Given the description of an element on the screen output the (x, y) to click on. 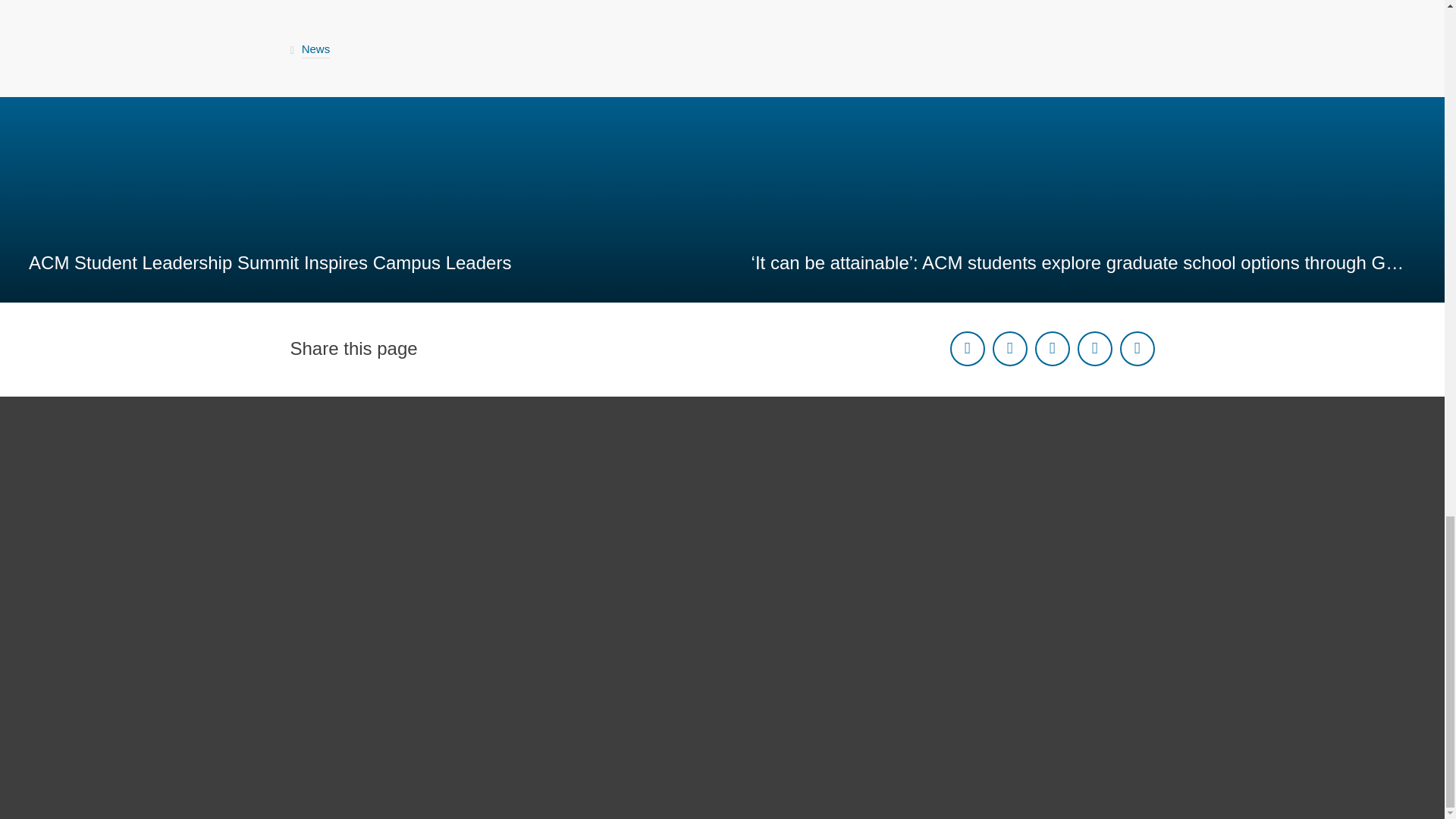
Share on LinkedIn (1050, 348)
Share on Twitter (1008, 348)
Share on Facebook (966, 348)
